Given the description of an element on the screen output the (x, y) to click on. 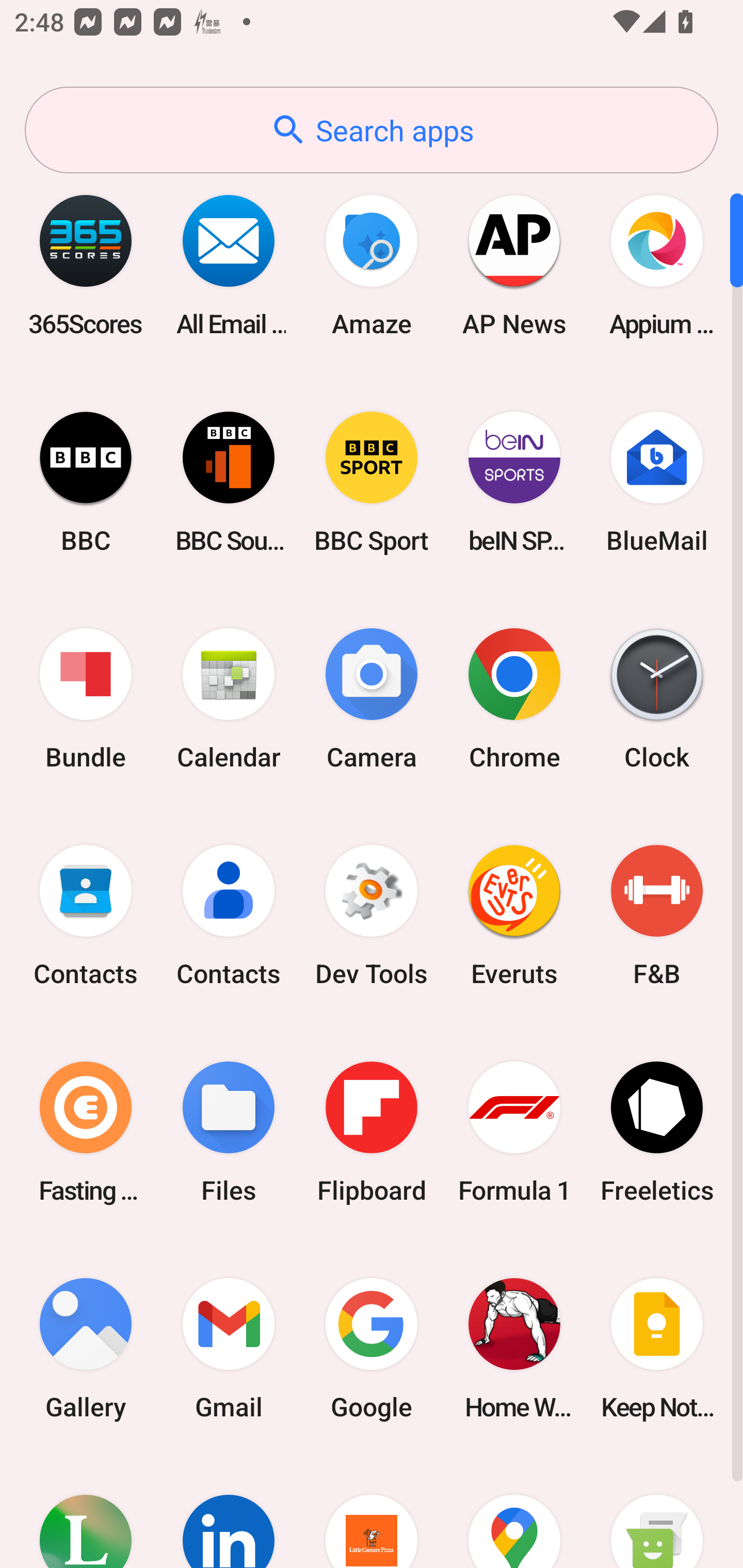
  Search apps (371, 130)
365Scores (85, 264)
All Email Connect (228, 264)
Amaze (371, 264)
AP News (514, 264)
Appium Settings (656, 264)
BBC (85, 482)
BBC Sounds (228, 482)
BBC Sport (371, 482)
beIN SPORTS (514, 482)
BlueMail (656, 482)
Bundle (85, 699)
Calendar (228, 699)
Camera (371, 699)
Chrome (514, 699)
Clock (656, 699)
Contacts (85, 915)
Contacts (228, 915)
Dev Tools (371, 915)
Everuts (514, 915)
F&B (656, 915)
Fasting Coach (85, 1131)
Files (228, 1131)
Flipboard (371, 1131)
Formula 1 (514, 1131)
Freeletics (656, 1131)
Gallery (85, 1348)
Gmail (228, 1348)
Google (371, 1348)
Home Workout (514, 1348)
Keep Notes (656, 1348)
